Given the description of an element on the screen output the (x, y) to click on. 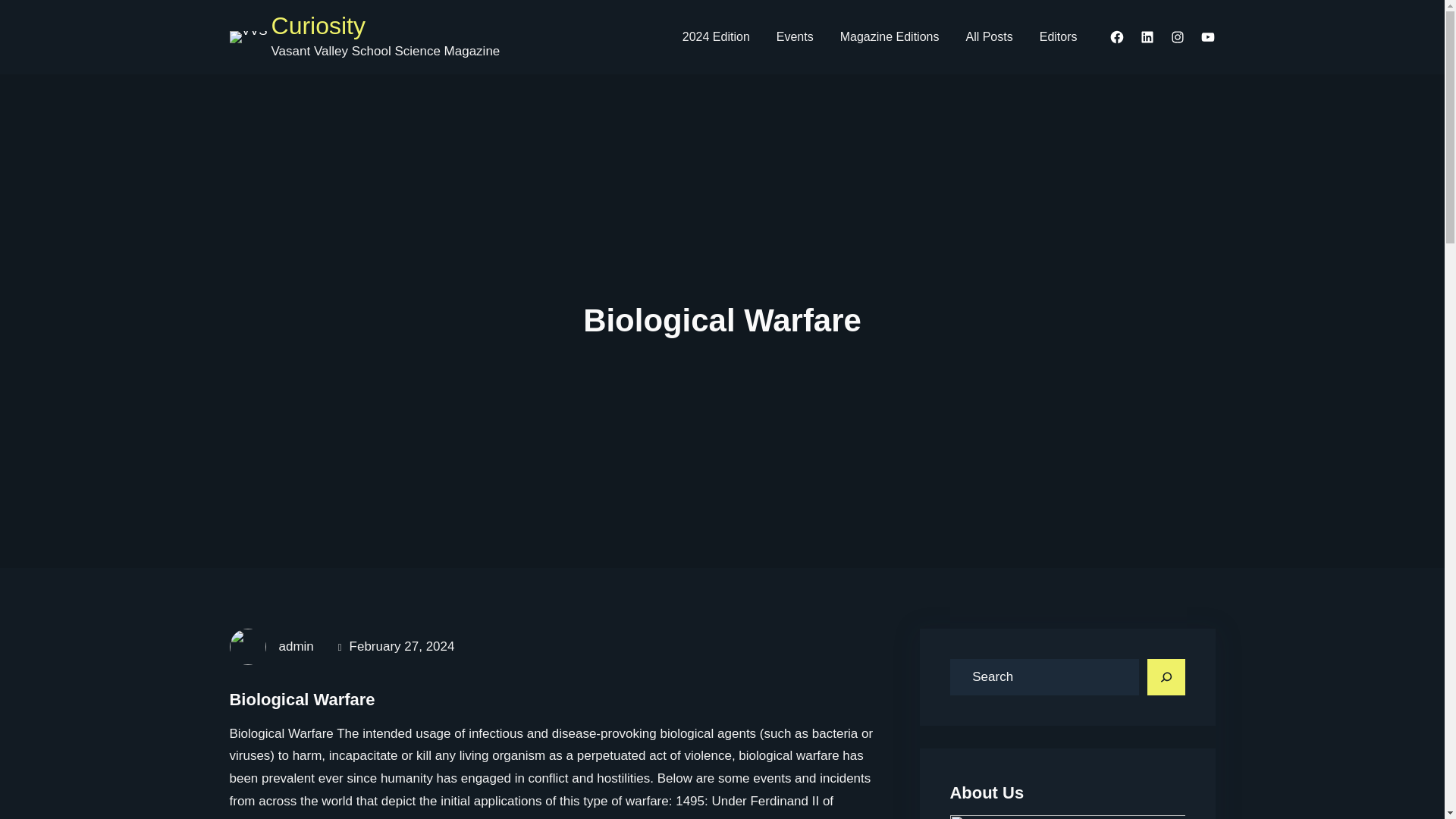
January 2023 (889, 36)
Facebook (1116, 37)
All Posts (989, 36)
Magazine Editions (889, 36)
YouTube (1206, 37)
Synapse (794, 36)
LinkedIn (1146, 37)
Instagram (1177, 37)
Editors (1058, 36)
Events (794, 36)
2024 Edition (716, 36)
Curiosity (317, 27)
